Given the description of an element on the screen output the (x, y) to click on. 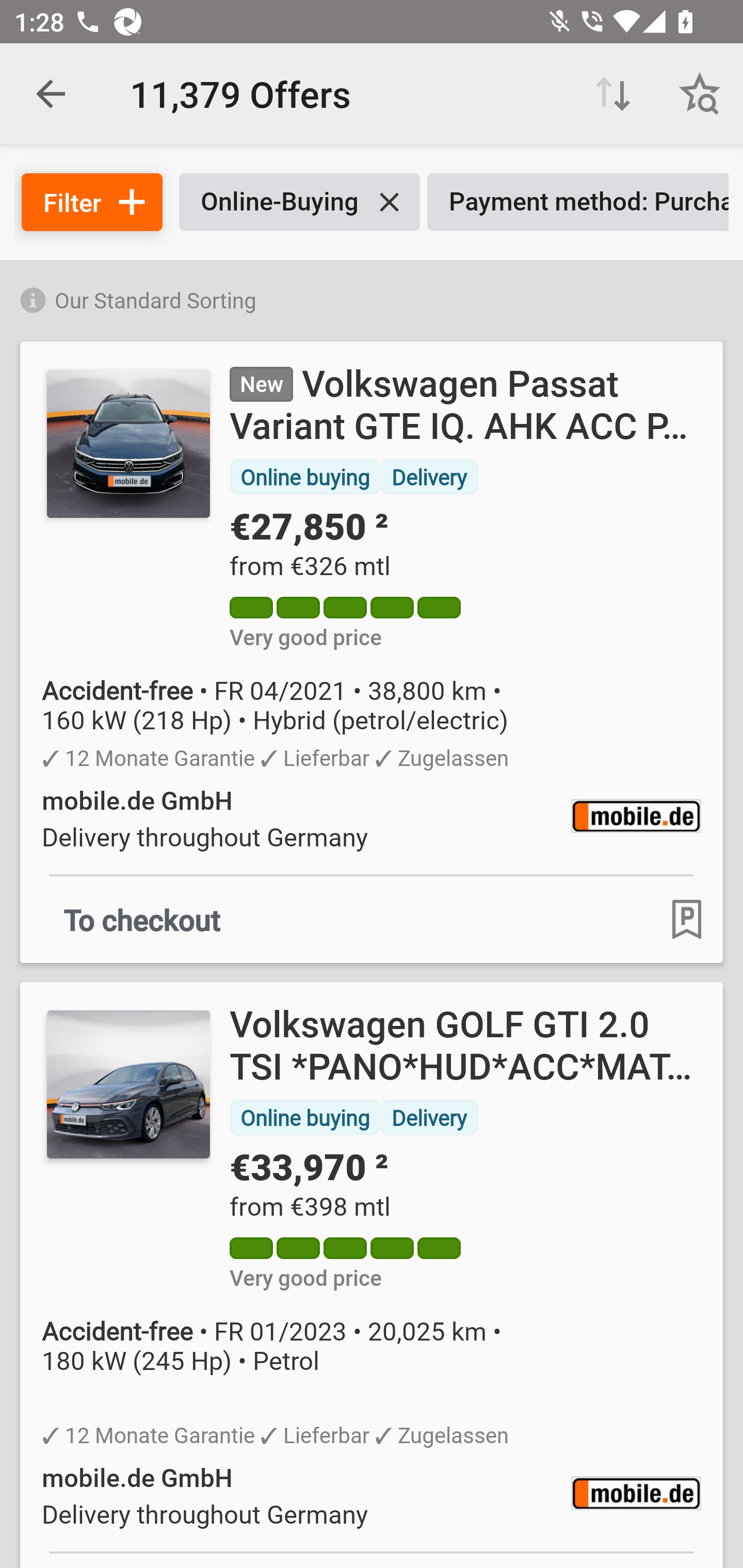
Navigate up (50, 93)
Sort options (612, 93)
Save search (699, 93)
Online-Buying Remove Online-Buying (299, 202)
Payment method: Purchase (577, 202)
Filter (91, 202)
Our Standard Sorting (371, 296)
To checkout (142, 919)
